Given the description of an element on the screen output the (x, y) to click on. 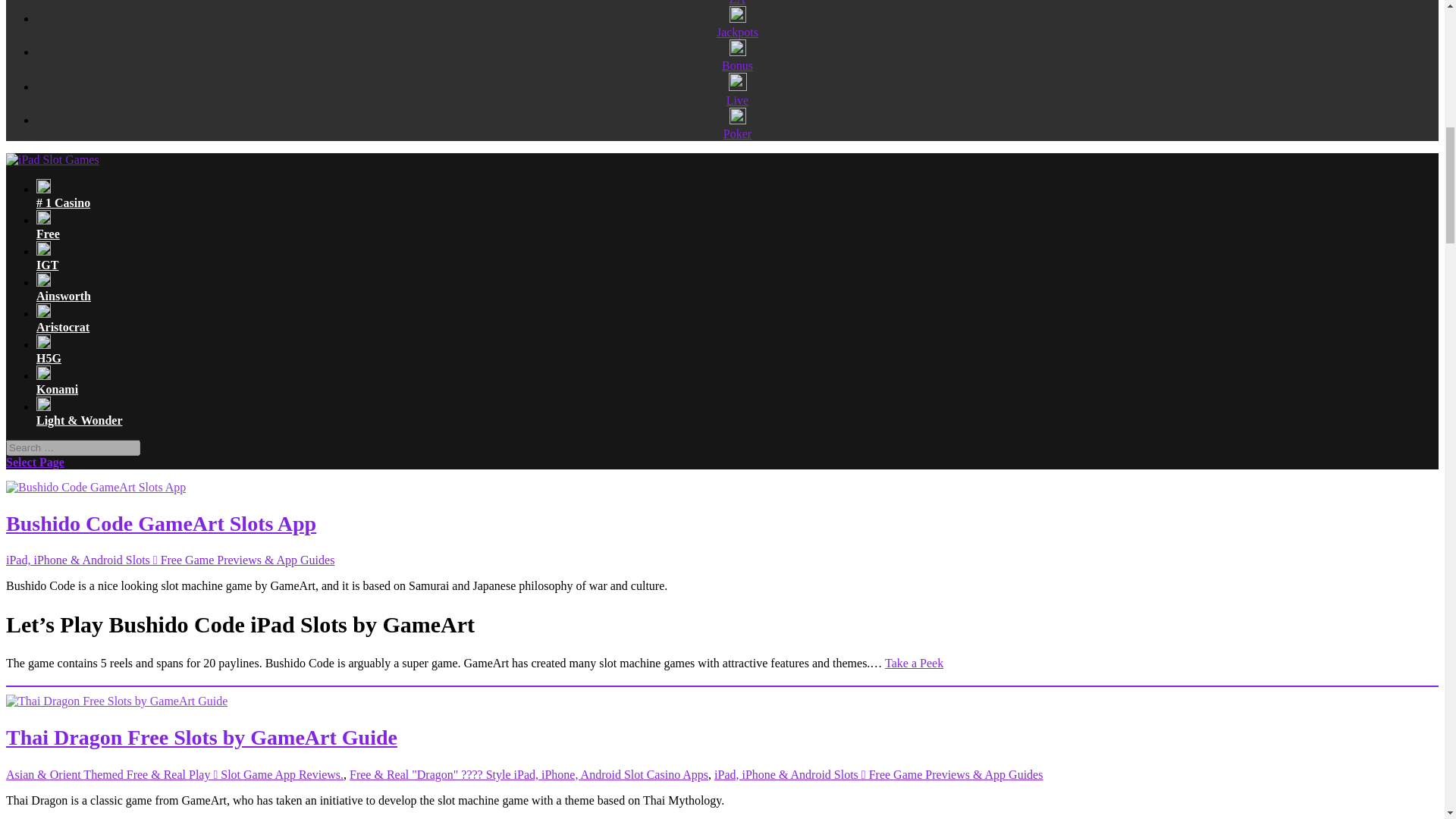
IGT (733, 255)
Bushido Code GameArt Slots App (160, 523)
Free slots (733, 224)
Konami (733, 380)
H5G (733, 349)
Ainsworth (733, 286)
Free (733, 224)
Select Page (34, 461)
Aristocrat (733, 318)
Search for: (72, 447)
